Given the description of an element on the screen output the (x, y) to click on. 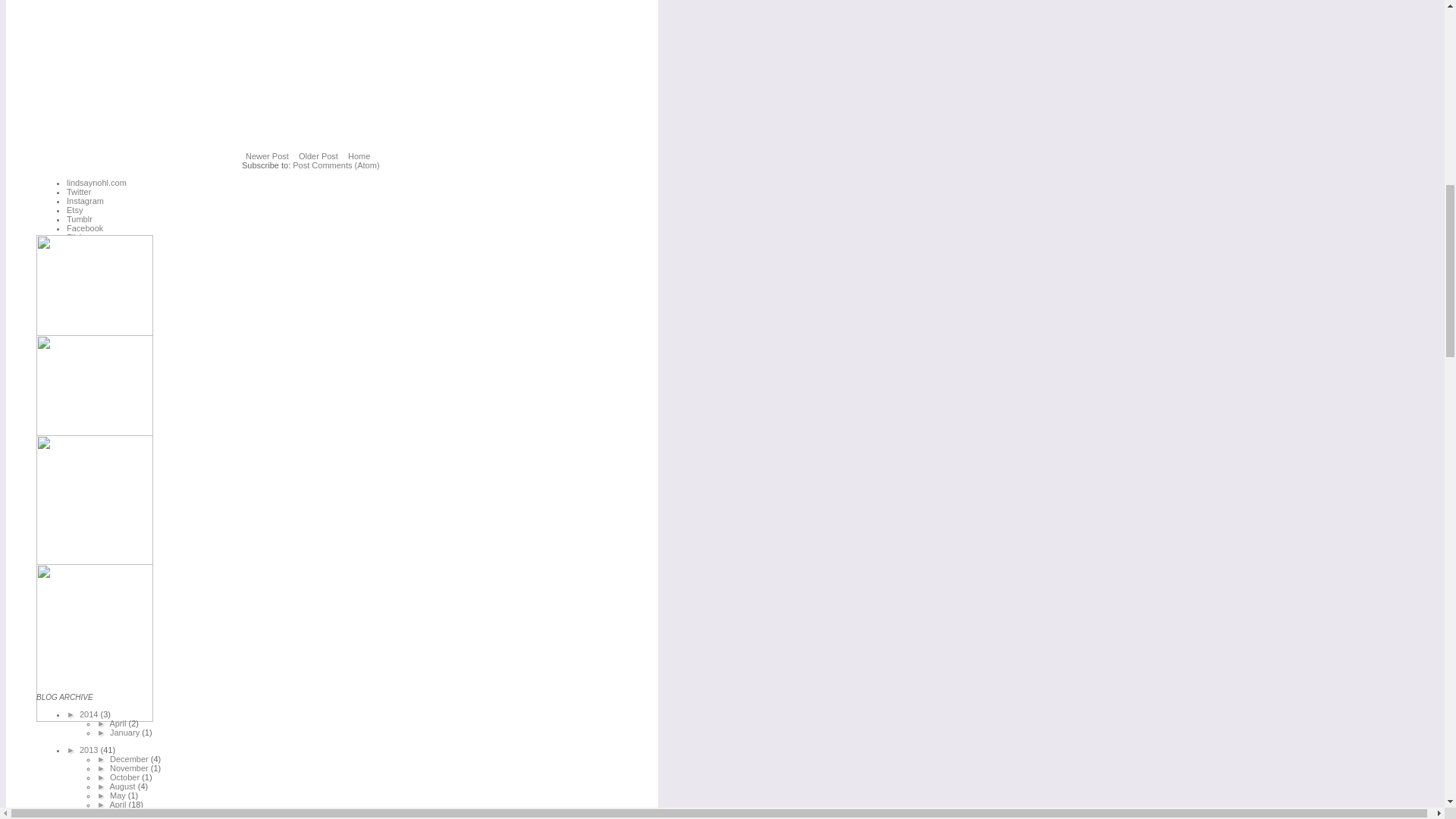
Flickr (75, 236)
Facebook (84, 227)
Etsy (74, 209)
Older Post (318, 156)
lindsaynohl.com (96, 182)
2014 (90, 714)
Newer Post (266, 156)
Newer Post (266, 156)
Home (358, 156)
Twitter (78, 191)
Instagram (84, 200)
Tumblr (79, 218)
Older Post (318, 156)
